Given the description of an element on the screen output the (x, y) to click on. 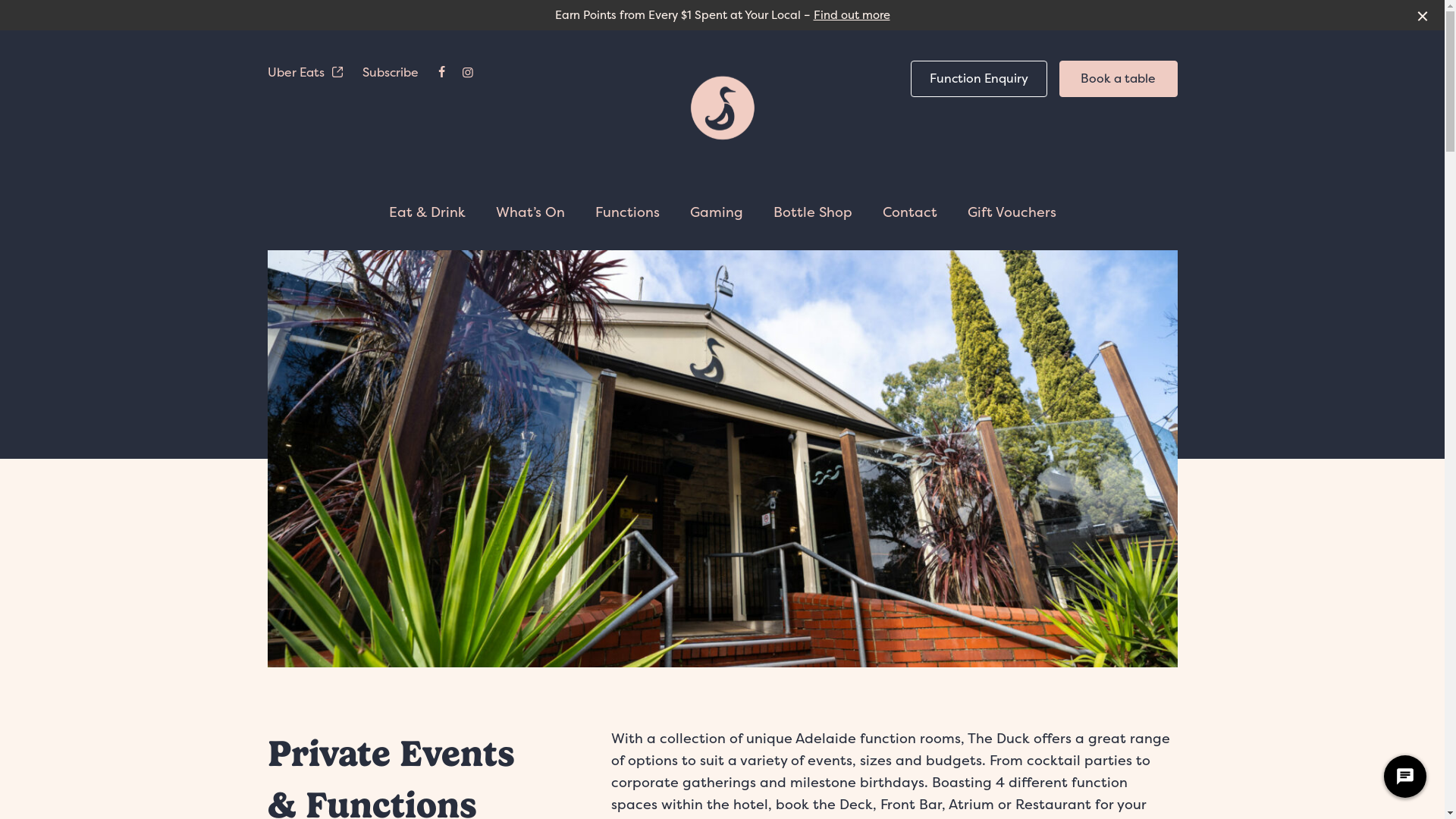
Genesys Messenger Launcher Element type: hover (1404, 779)
Contact Element type: text (909, 211)
Gift Vouchers Element type: text (1011, 211)
Bottle Shop Element type: text (812, 211)
Uber Eats Element type: text (304, 72)
Functions Element type: text (626, 211)
Find out more Element type: text (850, 14)
Function Enquiry Element type: text (978, 78)
Gaming Element type: text (716, 211)
Subscribe Element type: text (390, 71)
Book a table Element type: text (1117, 78)
Eat & Drink Element type: text (426, 211)
